Given the description of an element on the screen output the (x, y) to click on. 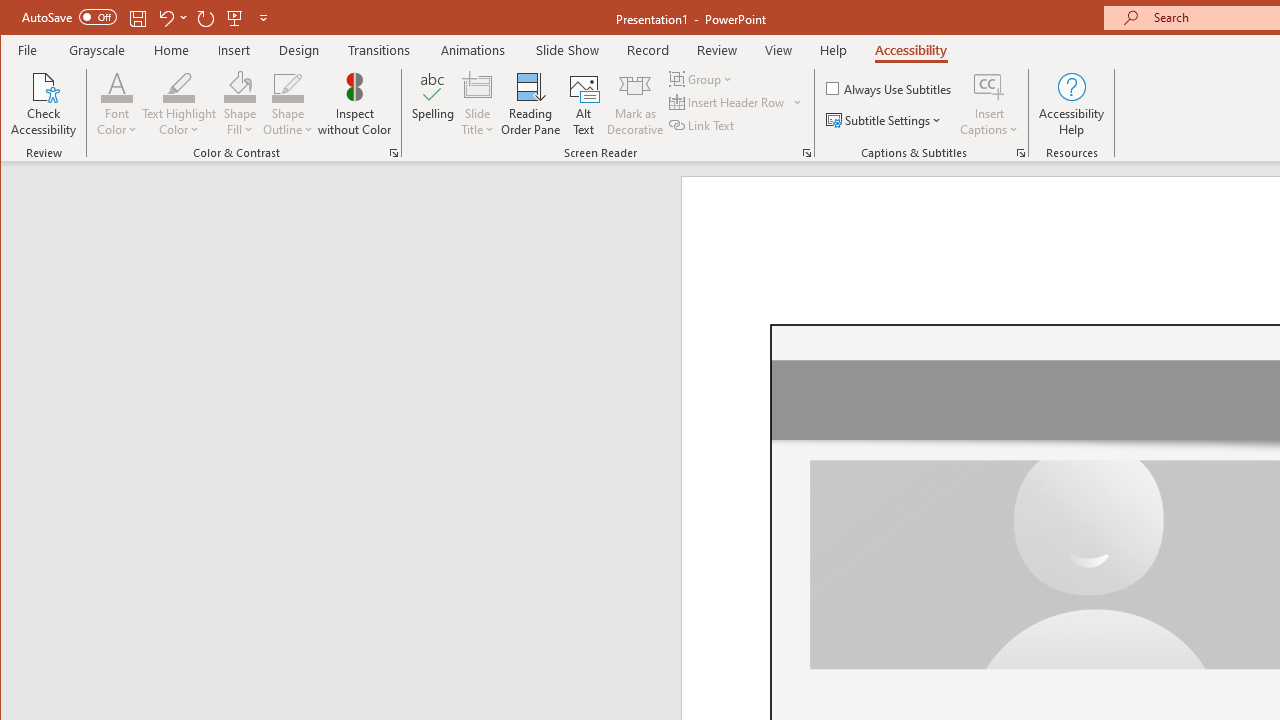
Inspect without Color (355, 104)
Subtitle Settings (885, 119)
Screen Reader (806, 152)
Spelling... (432, 104)
Shape Outline (288, 104)
Insert Header Row (728, 101)
Group (701, 78)
Grayscale (97, 50)
